Given the description of an element on the screen output the (x, y) to click on. 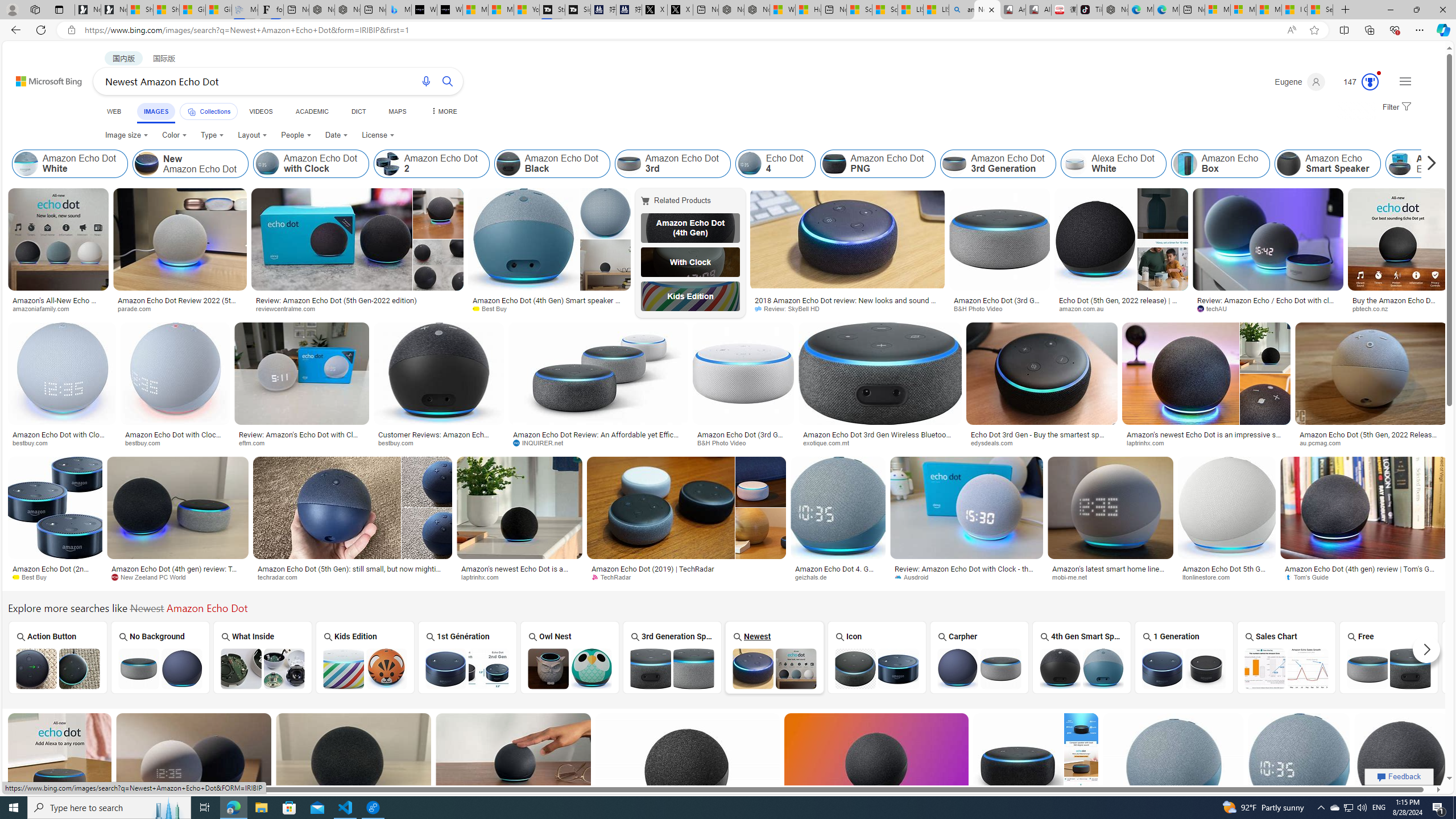
techAU (1215, 308)
Review: SkyBell HD (790, 308)
Amazon Echo Dot 1st Generation (467, 668)
Newest Amazon Echo Dot - Search Images (986, 9)
Class: outer-circle-animation (1369, 81)
